Given the description of an element on the screen output the (x, y) to click on. 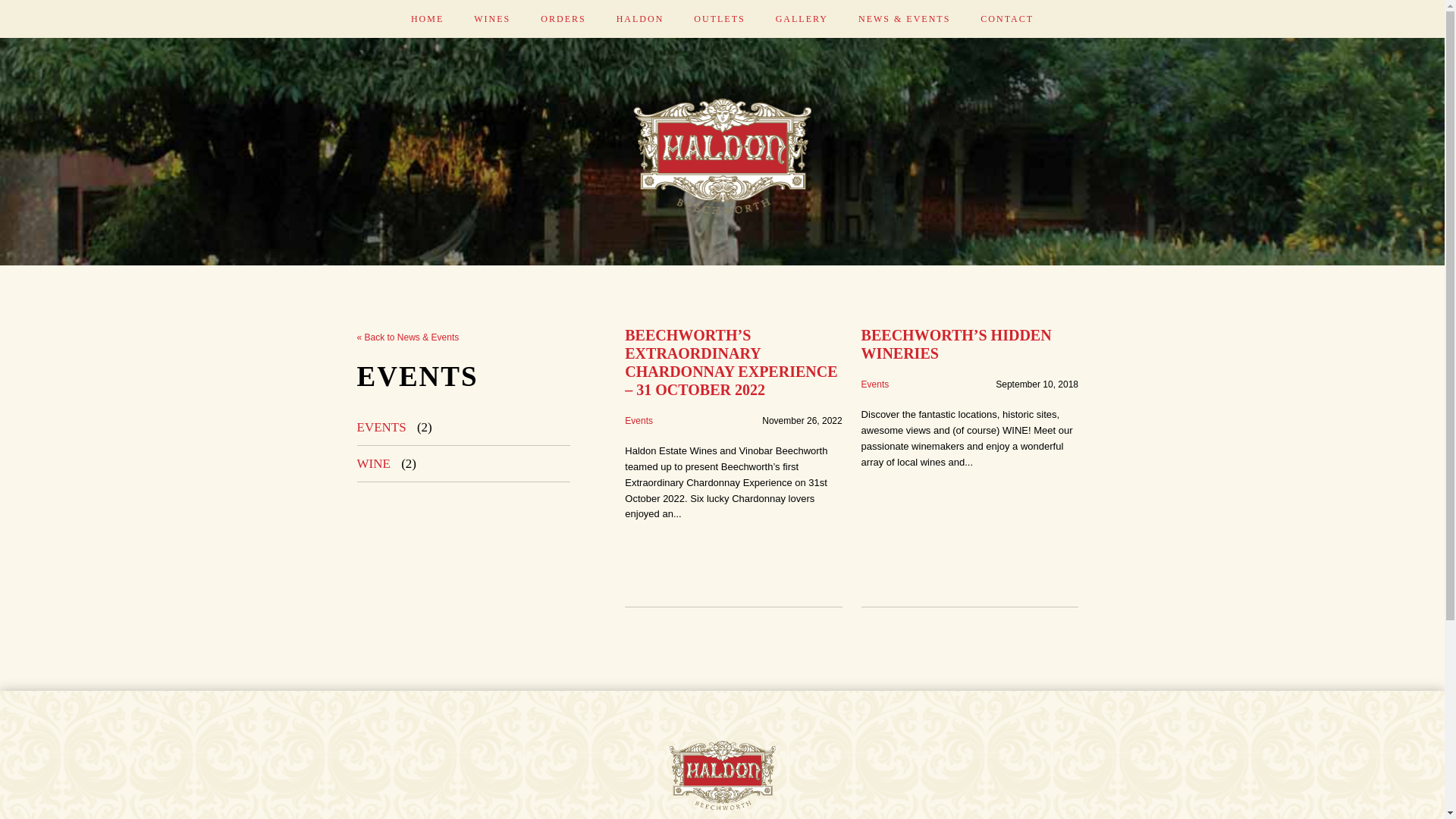
NEWS & EVENTS Element type: text (904, 18)
WINES Element type: text (491, 18)
Events Element type: text (875, 384)
Events Element type: text (638, 420)
HOME Element type: text (426, 18)
ORDERS Element type: text (562, 18)
OUTLETS Element type: text (718, 18)
CONTACT Element type: text (1006, 18)
WINE Element type: text (372, 463)
EVENTS Element type: text (380, 427)
GALLERY Element type: text (801, 18)
HALDON Element type: text (640, 18)
